Given the description of an element on the screen output the (x, y) to click on. 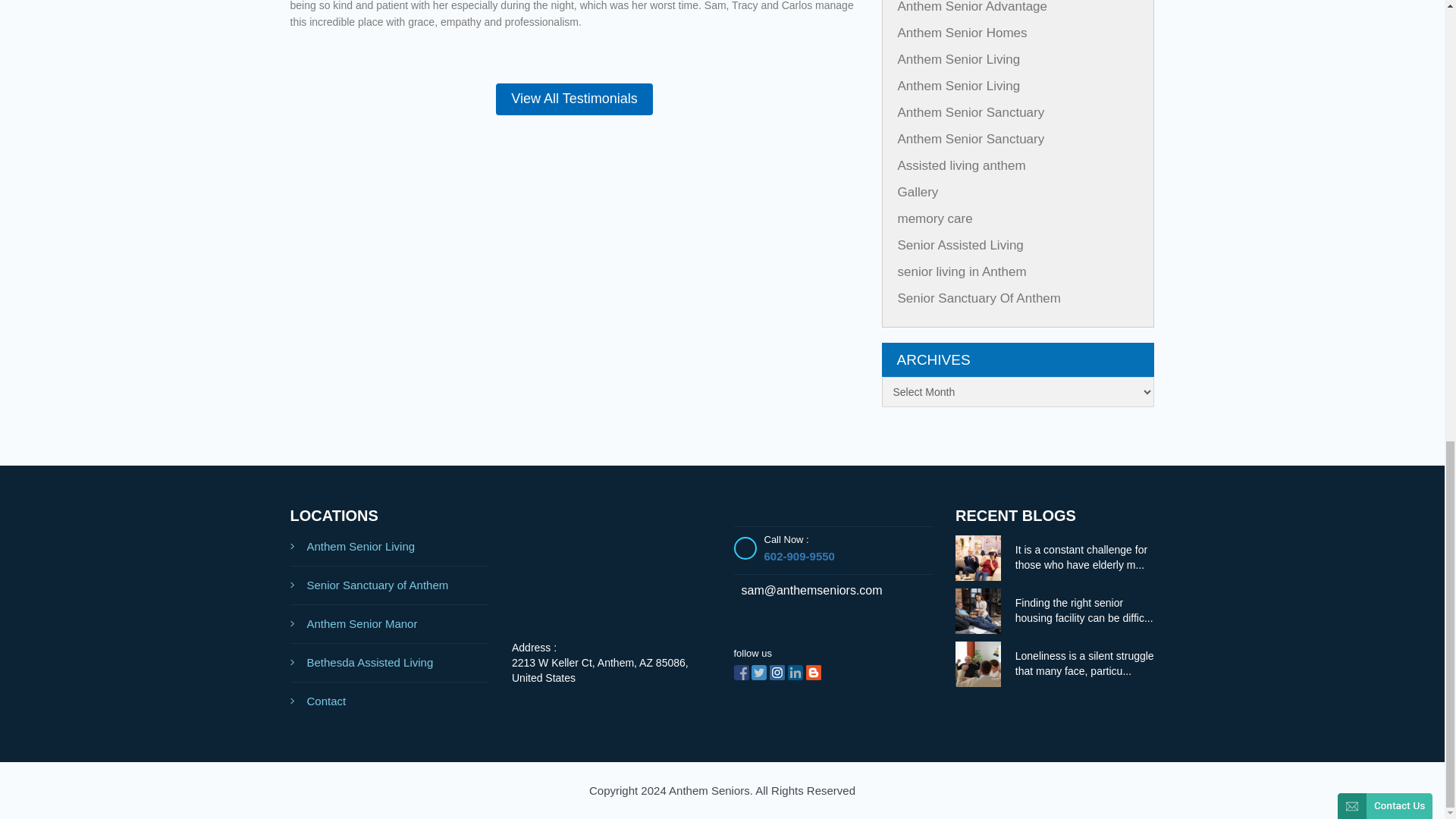
Anthem Senior Living (389, 546)
Senior Sanctuary Of Anthem (979, 298)
memory care (935, 218)
Anthem Senior Homes (962, 32)
Anthem Senior Living (959, 85)
View All Testimonials (574, 99)
senior living in Anthem (962, 271)
Senior Assisted Living (960, 245)
Anthem Senior Advantage (973, 6)
Assisted living anthem (962, 165)
Anthem Senior Living (959, 59)
Contact (389, 701)
Anthem Senior Sanctuary (971, 112)
Anthem Senior Manor (389, 624)
Bethesda Assisted Living (389, 662)
